Given the description of an element on the screen output the (x, y) to click on. 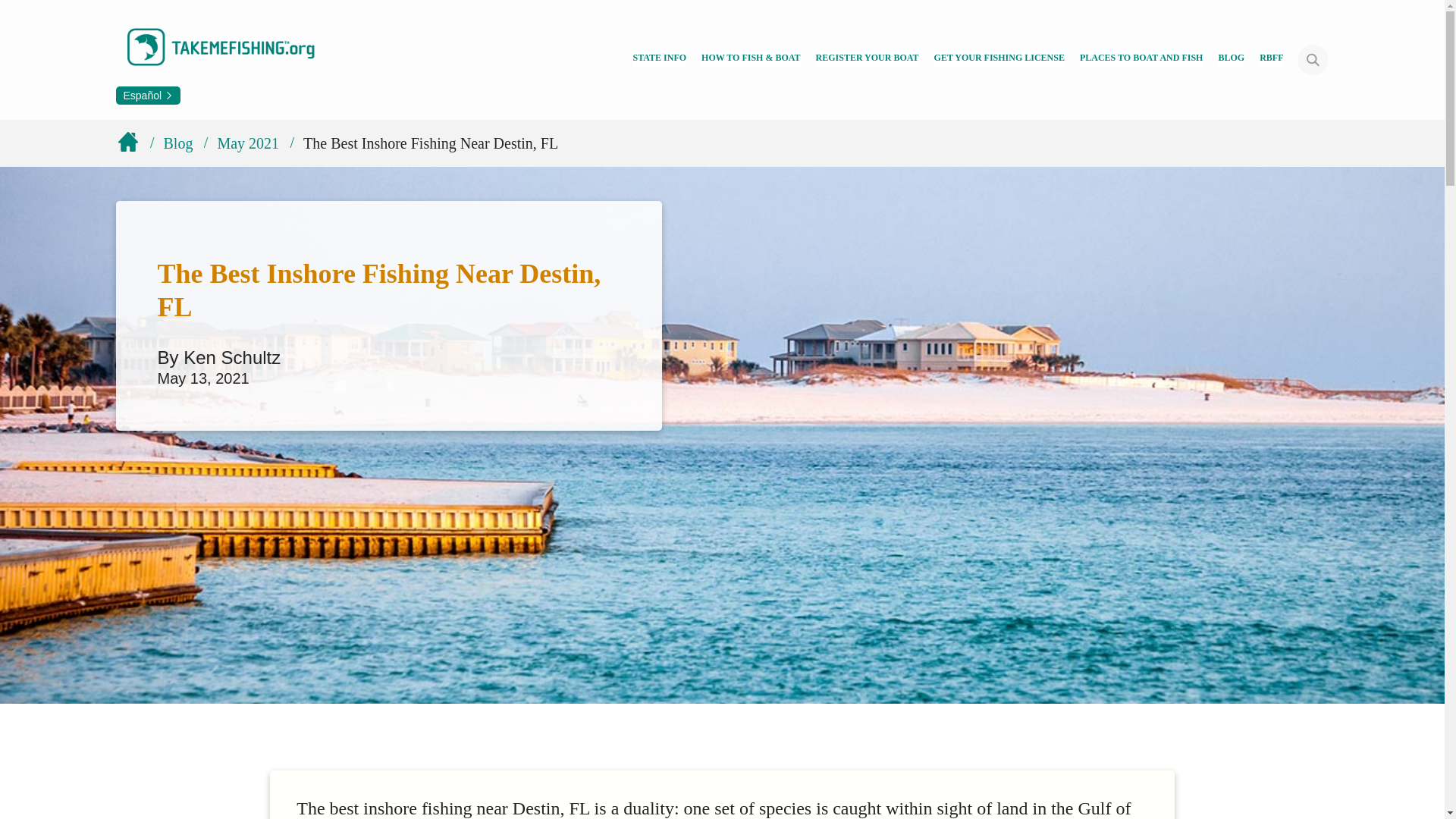
Blog (1230, 59)
REGISTER YOUR BOAT (866, 59)
GET YOUR FISHING LICENSE (999, 59)
Places To Boat And Fish (1142, 59)
BLOG (1230, 59)
Register Your Boat (866, 59)
RBFF (1270, 59)
RBFF (1270, 59)
PLACES TO BOAT AND FISH (1142, 59)
Get Your Fishing License (999, 59)
